Given the description of an element on the screen output the (x, y) to click on. 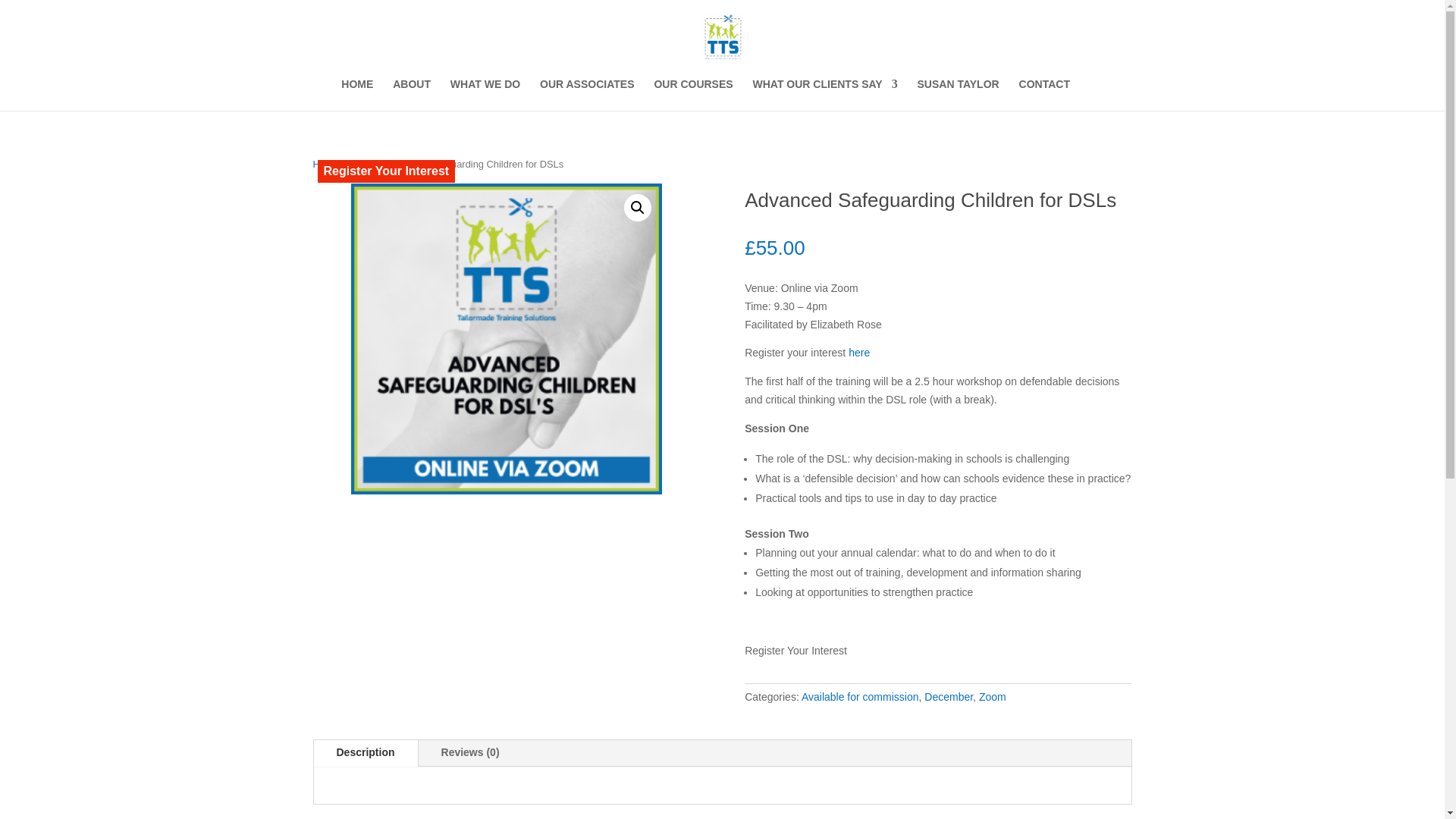
December (948, 696)
here (858, 352)
Zoom (992, 696)
HOME (356, 94)
Home (325, 163)
ABOUT (411, 94)
WHAT WE DO (484, 94)
CONTACT (1044, 94)
WHAT OUR CLIENTS SAY (825, 94)
Description (365, 753)
